Given the description of an element on the screen output the (x, y) to click on. 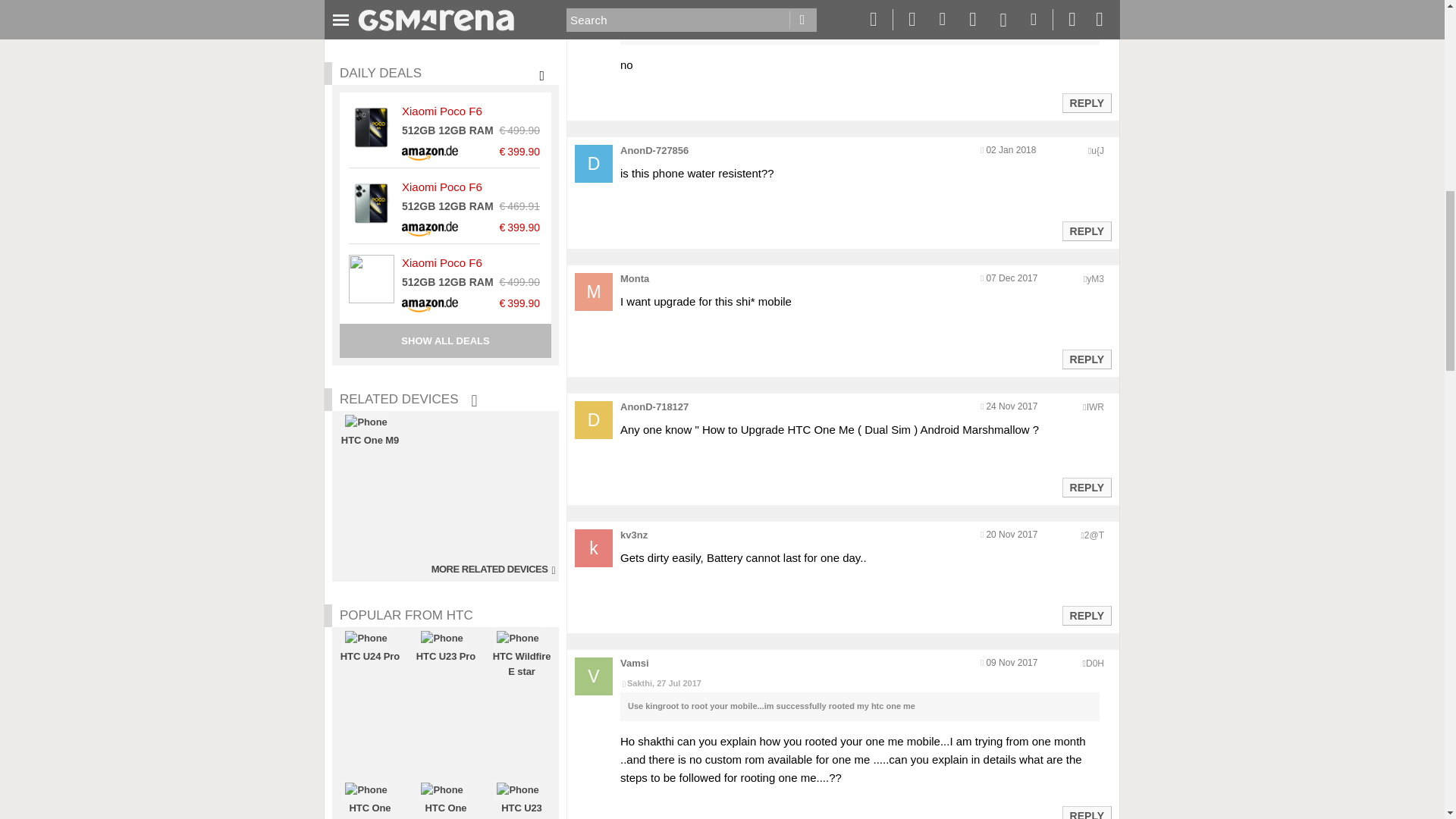
Encoded anonymized location (1093, 534)
Reply to this post (1086, 102)
Reply to this post (1086, 358)
Reply to this post (1086, 231)
Encoded anonymized location (1096, 150)
Reply to this post (1086, 487)
Encoded anonymized location (1094, 278)
Encoded anonymized location (1094, 407)
